Given the description of an element on the screen output the (x, y) to click on. 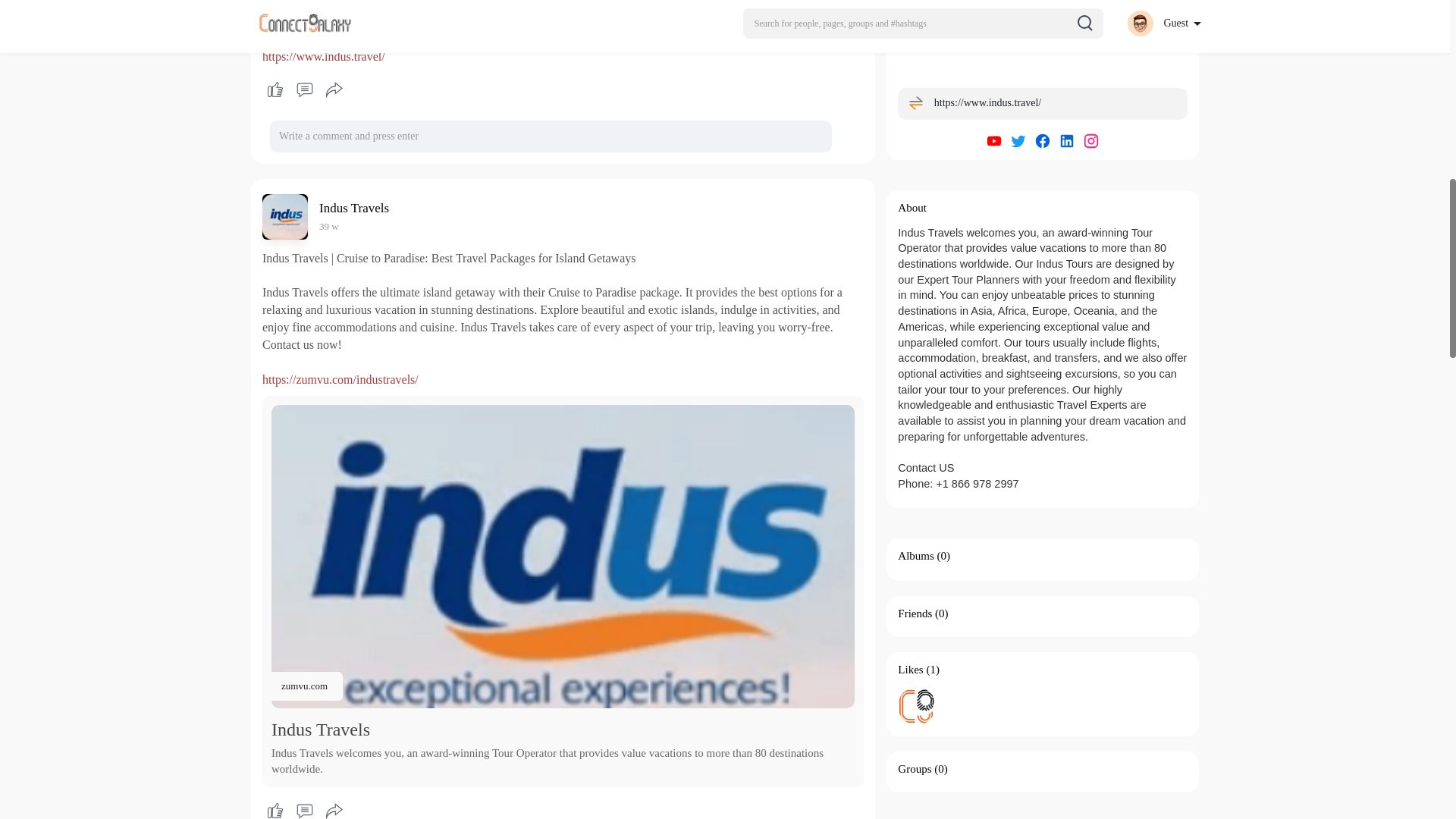
Share (334, 808)
Comments (304, 89)
39 w (328, 225)
Comments (304, 808)
ConnectGalaxy (917, 705)
Indus Travels (356, 207)
Share (334, 89)
